Given the description of an element on the screen output the (x, y) to click on. 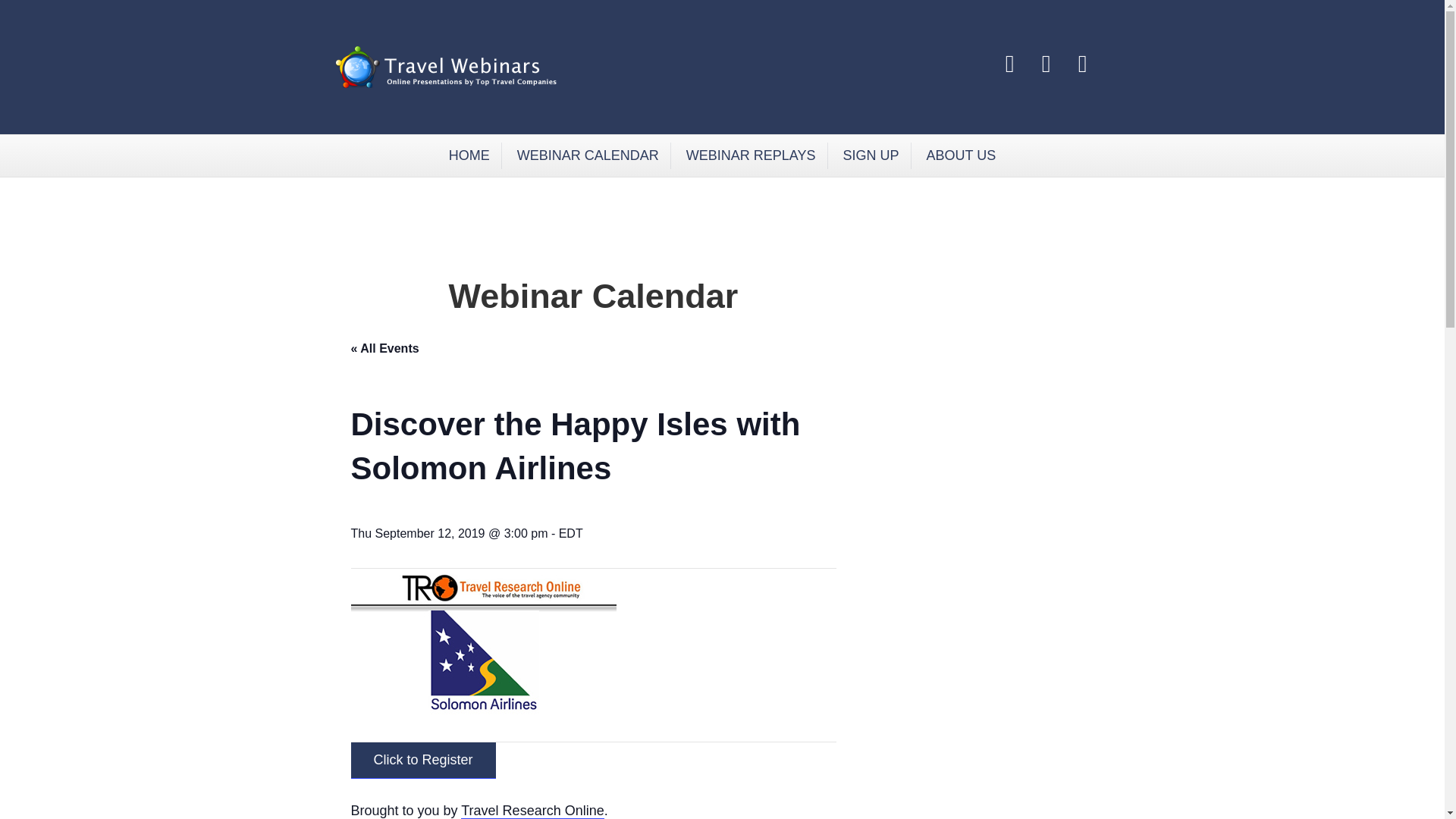
WEBINAR REPLAYS (751, 155)
SIGN UP (871, 155)
WEBINAR CALENDAR (588, 155)
Click to Register (422, 760)
Linkedin (1045, 63)
Facebook (1009, 63)
Travel Research Online (532, 811)
HOME (470, 155)
Email (1082, 63)
ABOUT US (961, 155)
